Given the description of an element on the screen output the (x, y) to click on. 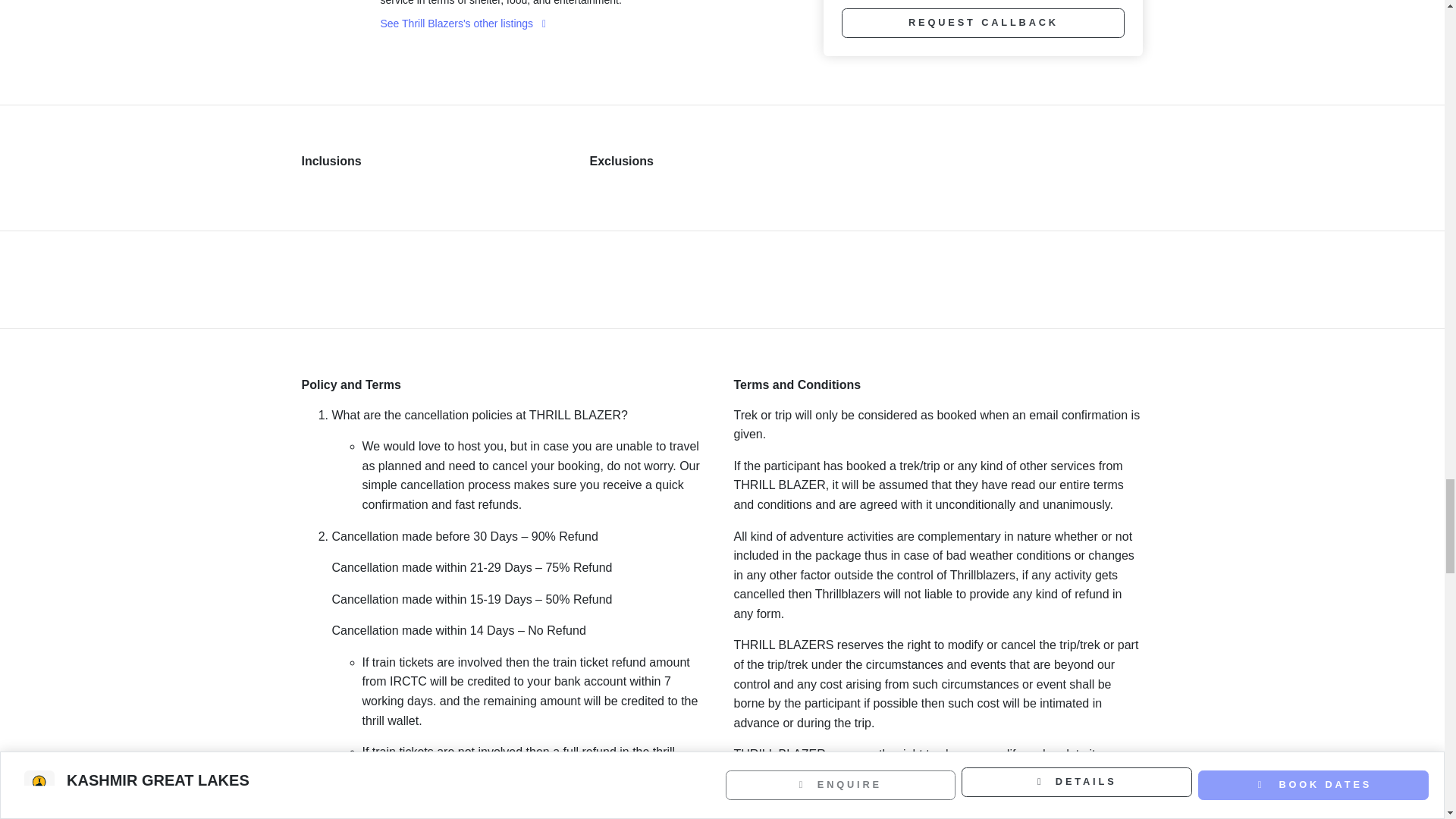
See Thrill Blazers's other listings (463, 23)
